Given the description of an element on the screen output the (x, y) to click on. 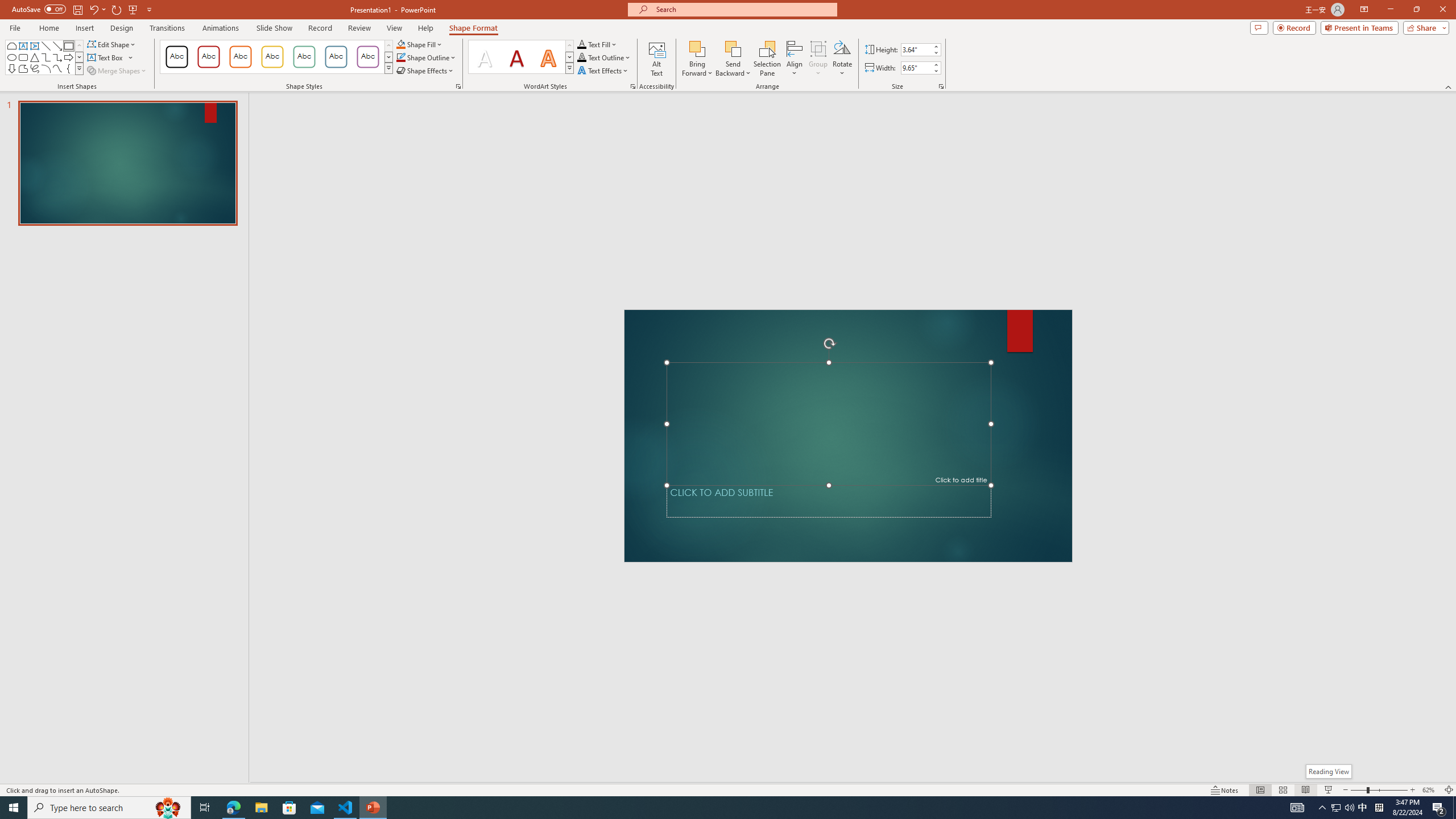
Quick Styles (568, 67)
Review (359, 28)
Connector: Elbow (46, 57)
Left Brace (68, 68)
Slide (127, 163)
Connector: Elbow Arrow (57, 57)
Shape Format (473, 28)
From Beginning (133, 9)
Design (122, 28)
Line Arrow (57, 45)
